Given the description of an element on the screen output the (x, y) to click on. 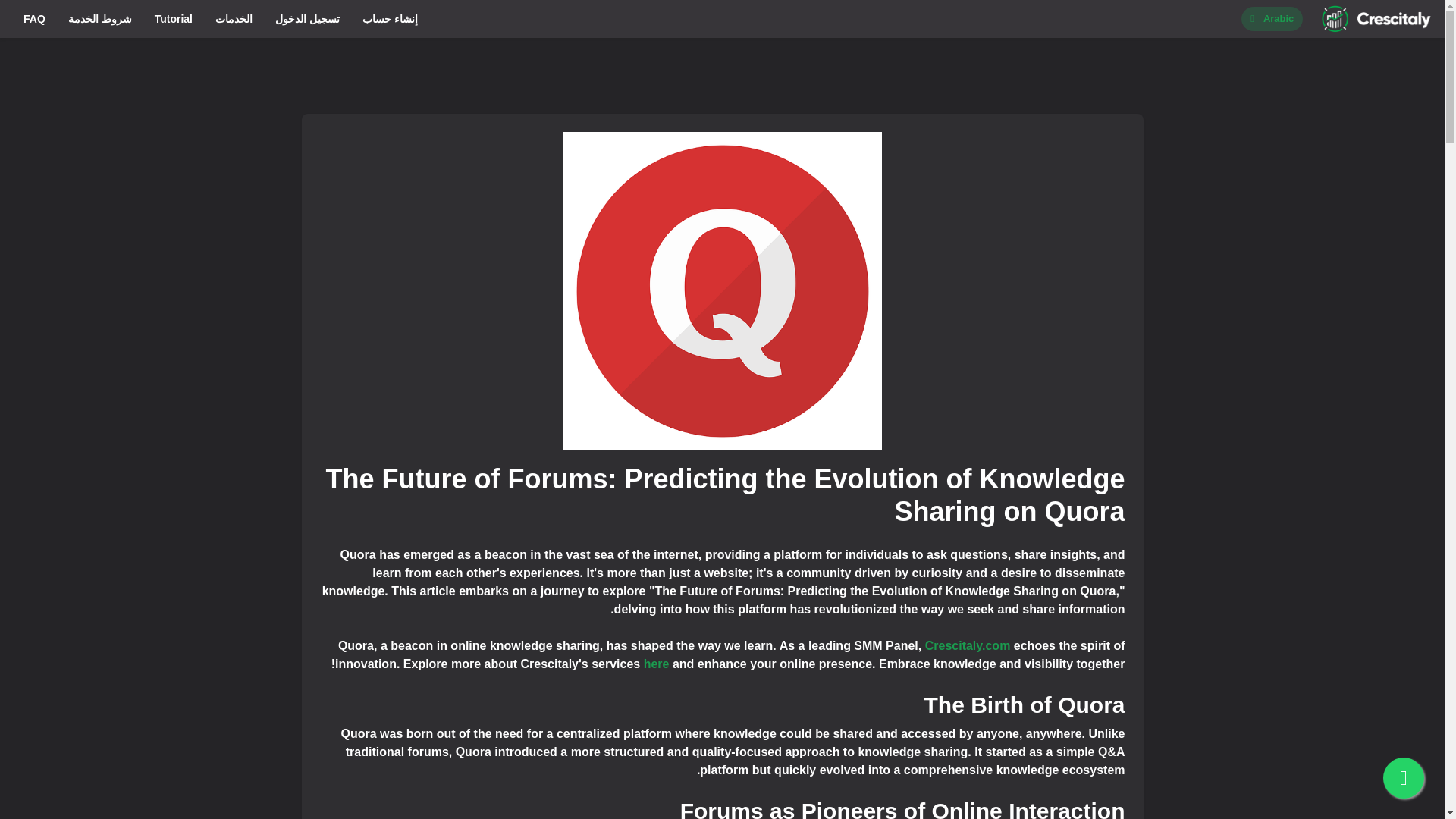
Tutorial (172, 18)
FAQ (33, 18)
here (656, 663)
Crescitaly.com (967, 645)
